Given the description of an element on the screen output the (x, y) to click on. 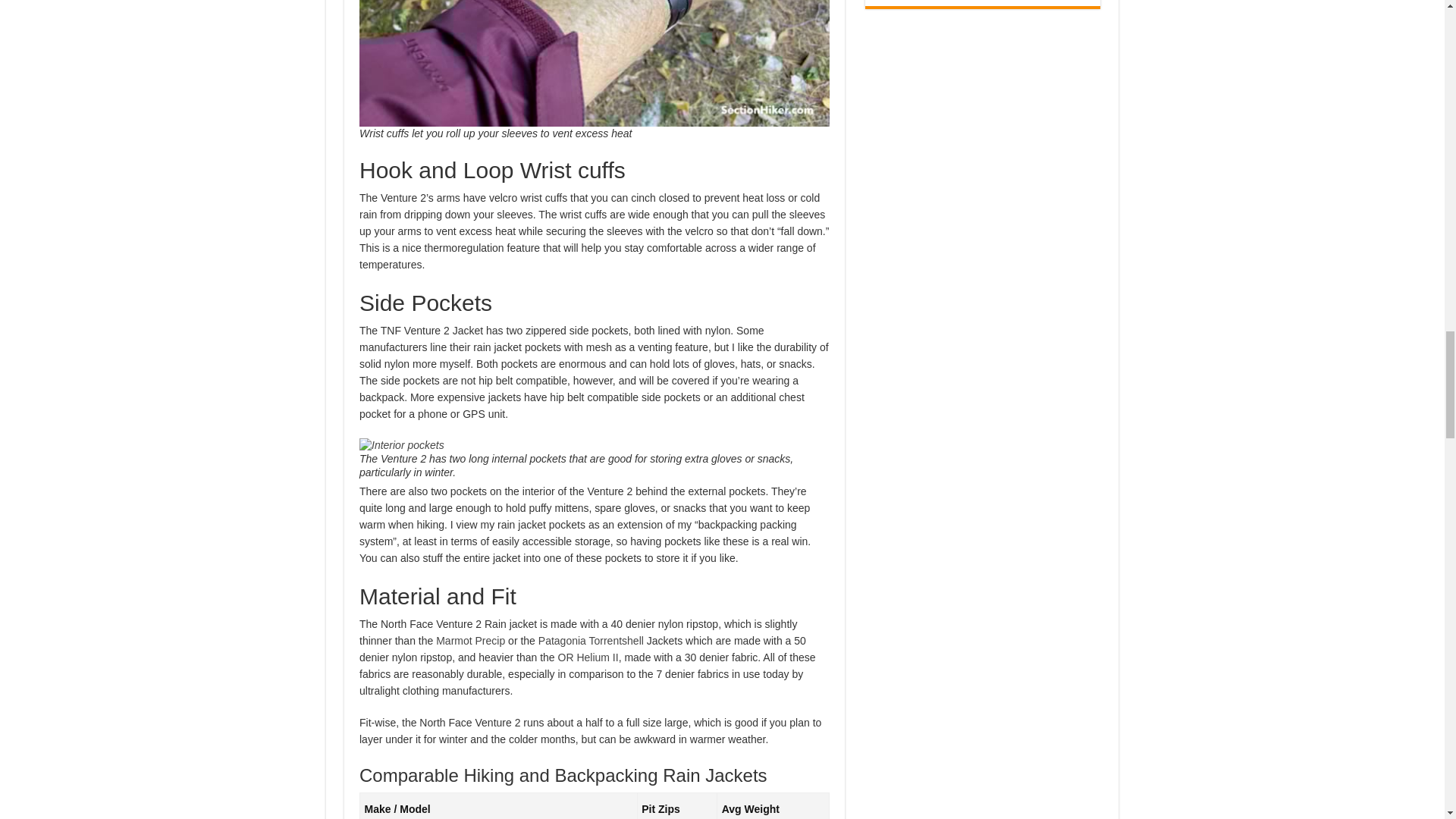
OR Helium II (587, 657)
Marmot Precip (470, 640)
Patagonia Torrentshell (590, 640)
